Given the description of an element on the screen output the (x, y) to click on. 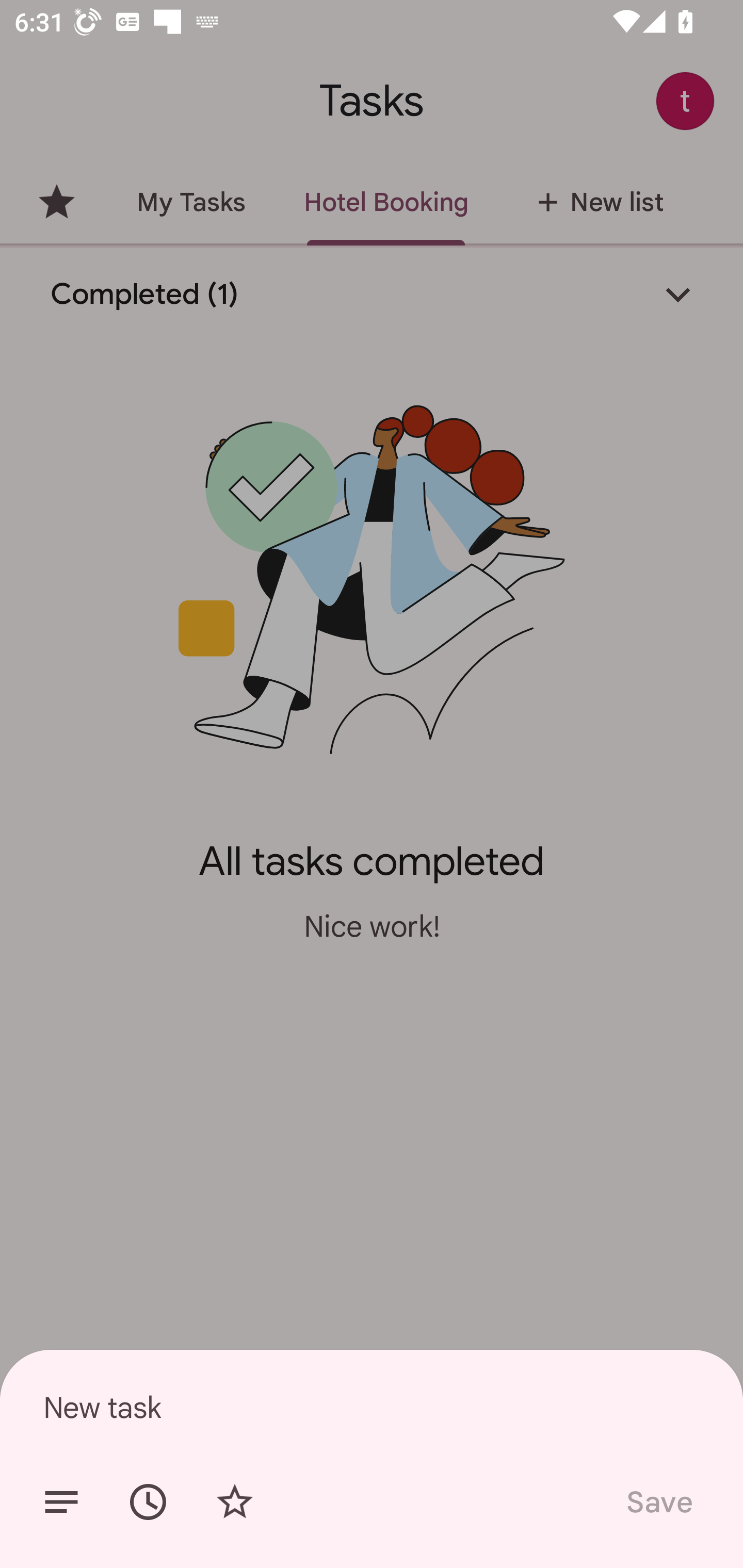
New task (371, 1407)
Save (659, 1501)
Add details (60, 1501)
Set date/time (147, 1501)
Add star (234, 1501)
